Given the description of an element on the screen output the (x, y) to click on. 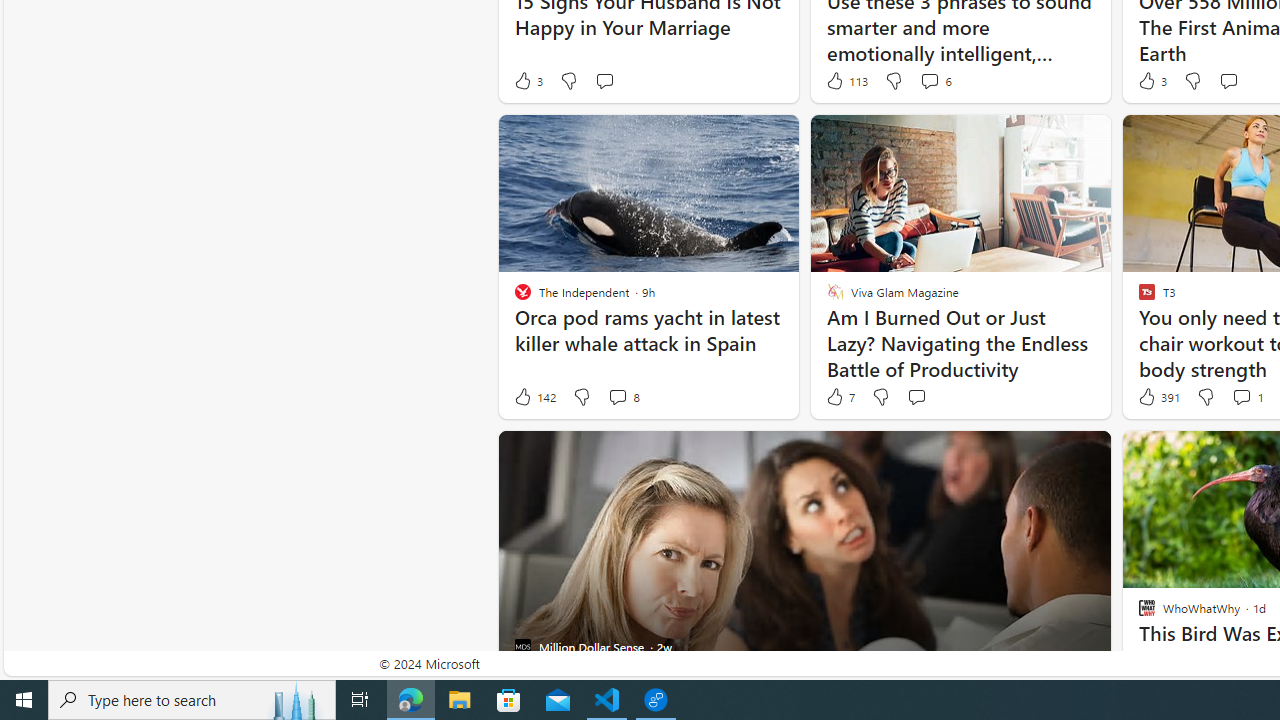
View comments 8 Comment (623, 397)
View comments 1 Comment (1241, 396)
